Given the description of an element on the screen output the (x, y) to click on. 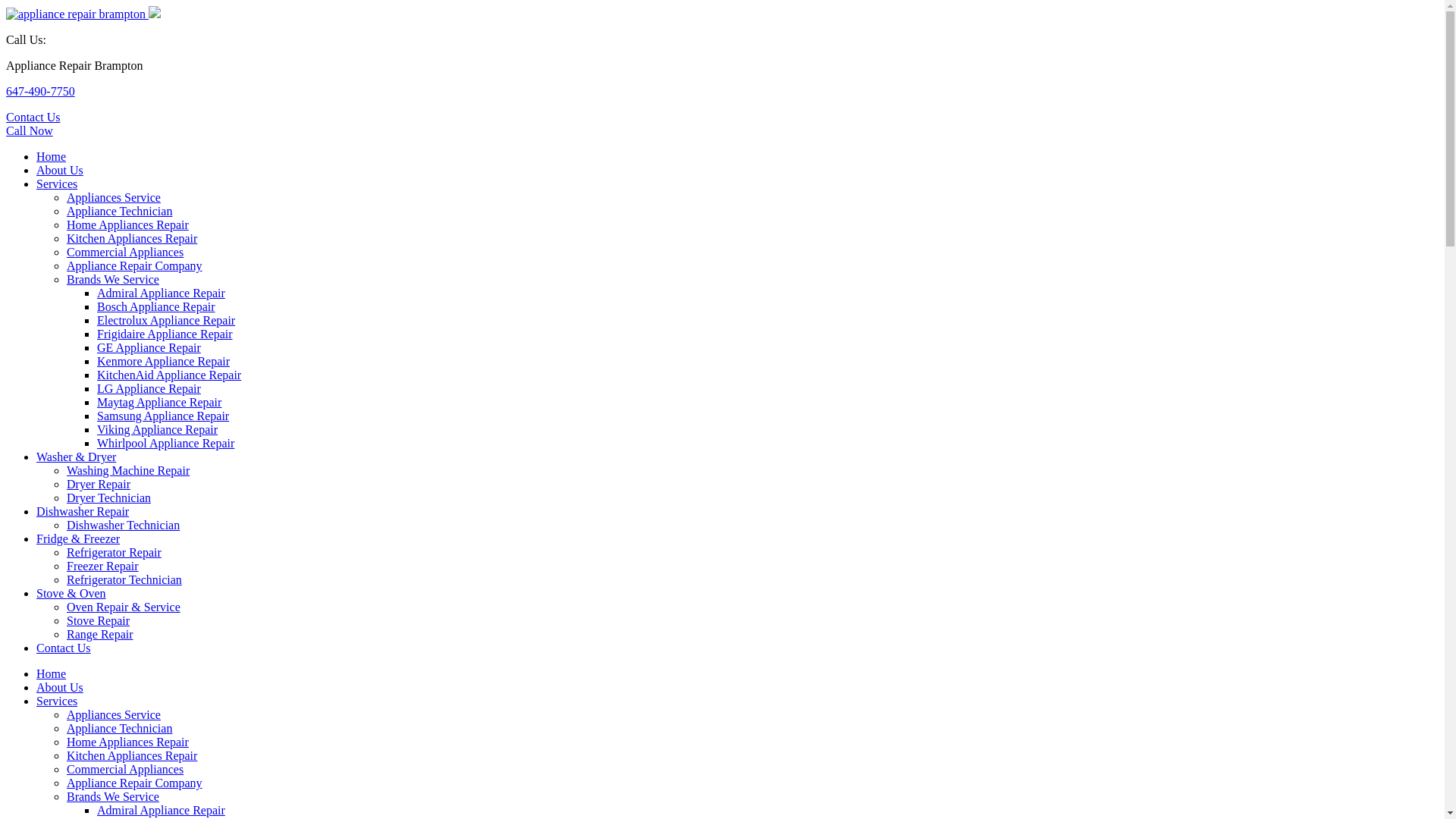
KitchenAid Appliance Repair Element type: text (169, 374)
Contact Us Element type: text (33, 116)
Appliance Technician Element type: text (119, 727)
Viking Appliance Repair Element type: text (157, 429)
Range Repair Element type: text (99, 633)
Dryer Technician Element type: text (108, 497)
Appliance Repair Company Element type: text (134, 265)
Call Now Element type: text (29, 130)
Fridge & Freezer Element type: text (77, 538)
GE Appliance Repair Element type: text (148, 347)
Home Element type: text (50, 156)
Admiral Appliance Repair Element type: text (161, 292)
Commercial Appliances Element type: text (124, 251)
Admiral Appliance Repair Element type: text (161, 809)
Home Appliances Repair Element type: text (127, 741)
LG Appliance Repair Element type: text (148, 388)
About Us Element type: text (59, 686)
Brands We Service Element type: text (112, 796)
Dishwasher Technician Element type: text (122, 524)
Contact Us Element type: text (63, 647)
Appliances Service Element type: text (113, 714)
Whirlpool Appliance Repair Element type: text (165, 442)
647-490-7750 Element type: text (40, 90)
Appliances Service Element type: text (113, 197)
Home Element type: text (50, 673)
Commercial Appliances Element type: text (124, 768)
Washer & Dryer Element type: text (76, 456)
Refrigerator Repair Element type: text (113, 552)
Appliance Repair Company Element type: text (134, 782)
Services Element type: text (56, 183)
Samsung Appliance Repair Element type: text (163, 415)
Bosch Appliance Repair Element type: text (156, 306)
Stove & Oven Element type: text (71, 592)
Electrolux Appliance Repair Element type: text (166, 319)
Refrigerator Technician Element type: text (124, 579)
Oven Repair & Service Element type: text (123, 606)
Maytag Appliance Repair Element type: text (159, 401)
Freezer Repair Element type: text (102, 565)
Stove Repair Element type: text (97, 620)
Services Element type: text (56, 700)
Appliance Technician Element type: text (119, 210)
Kitchen Appliances Repair Element type: text (131, 755)
Washing Machine Repair Element type: text (127, 470)
Dryer Repair Element type: text (98, 483)
Brands We Service Element type: text (112, 279)
About Us Element type: text (59, 169)
Kenmore Appliance Repair Element type: text (163, 360)
Dishwasher Repair Element type: text (82, 511)
Home Appliances Repair Element type: text (127, 224)
Kitchen Appliances Repair Element type: text (131, 238)
Frigidaire Appliance Repair Element type: text (164, 333)
